Given the description of an element on the screen output the (x, y) to click on. 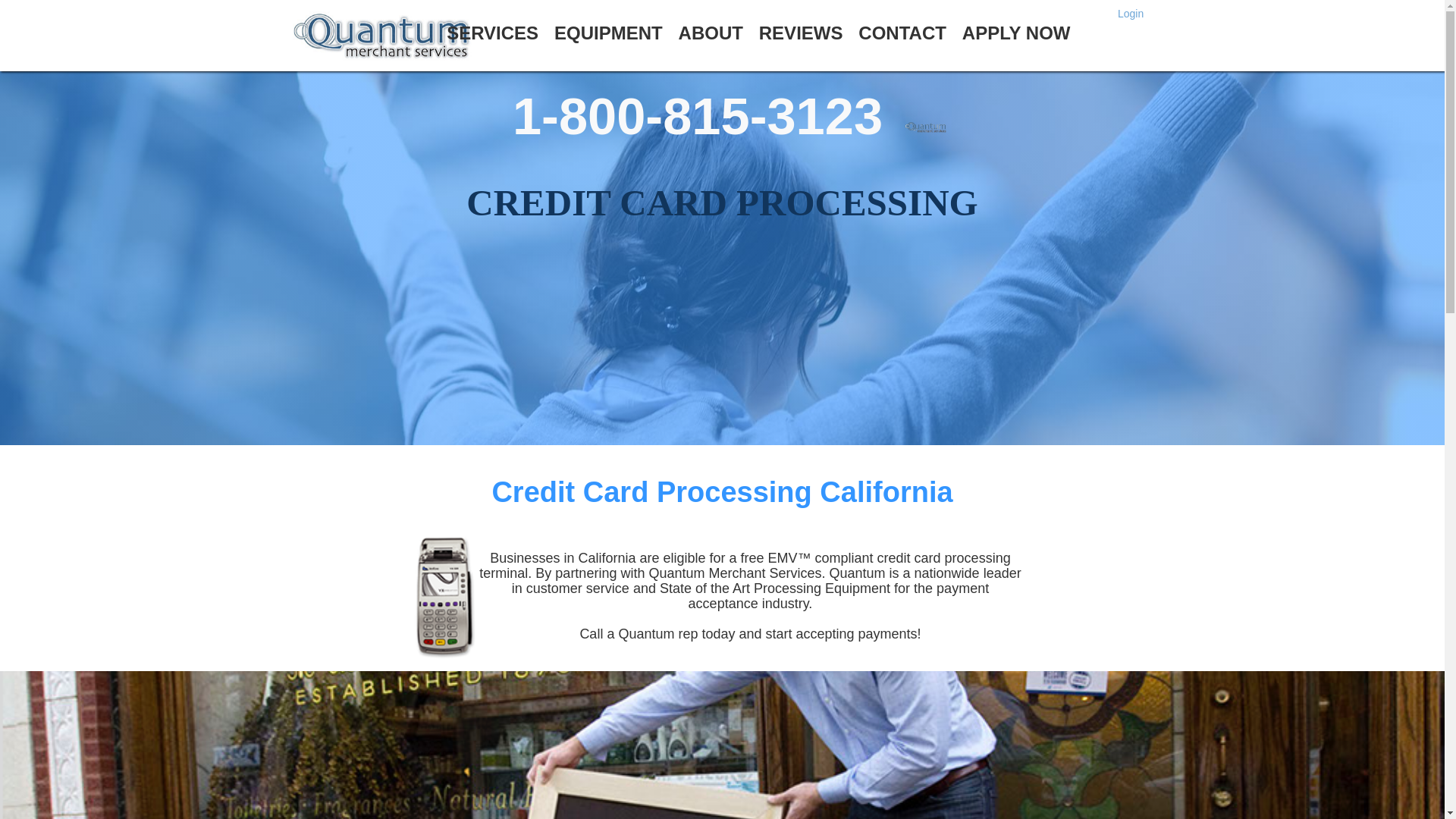
APPLY NOW (1016, 32)
REVIEWS (801, 32)
ABOUT (711, 32)
Login (1137, 9)
